Given the description of an element on the screen output the (x, y) to click on. 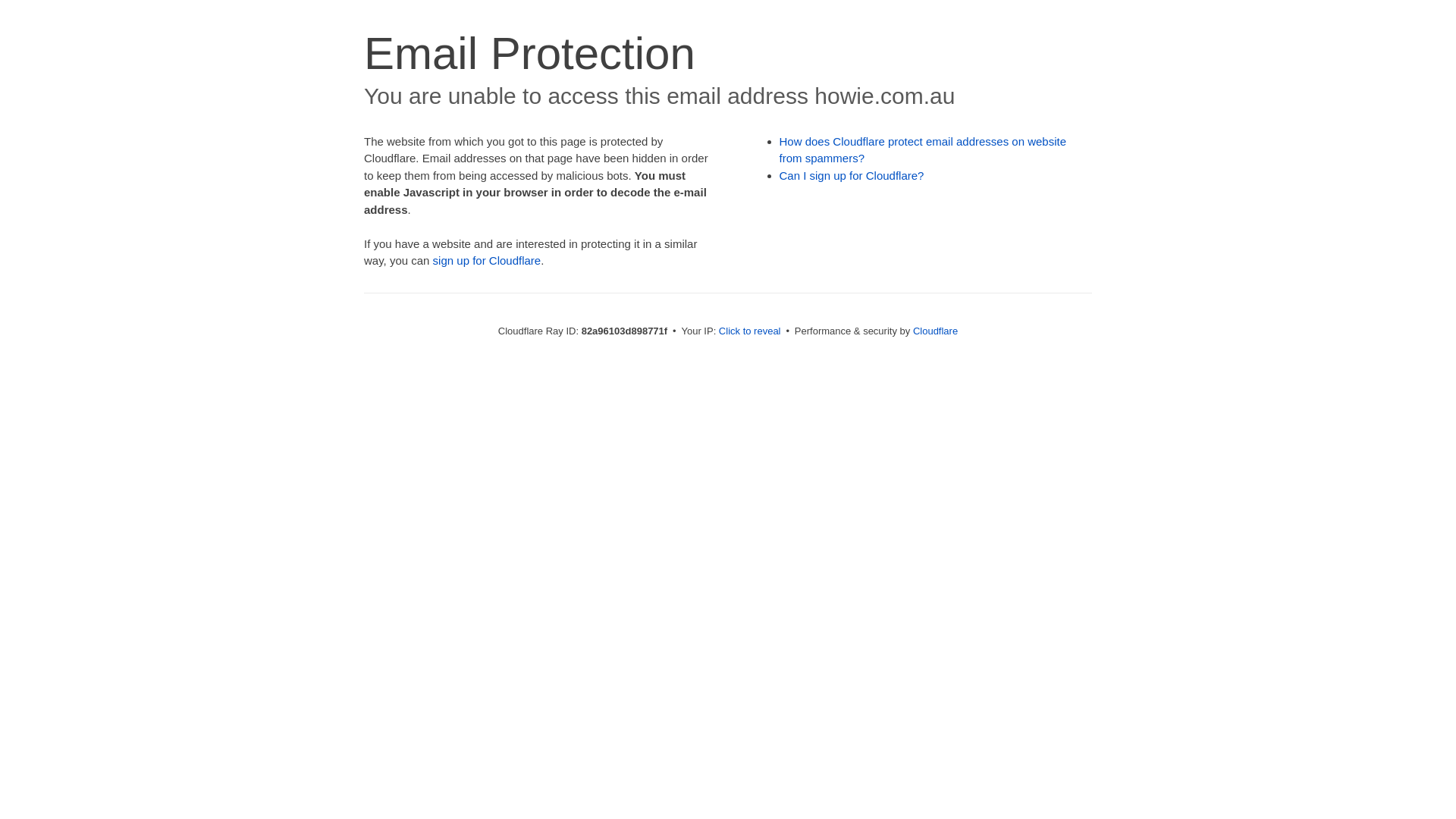
Cloudflare Element type: text (935, 330)
sign up for Cloudflare Element type: text (487, 260)
Can I sign up for Cloudflare? Element type: text (851, 175)
Click to reveal Element type: text (749, 330)
